Given the description of an element on the screen output the (x, y) to click on. 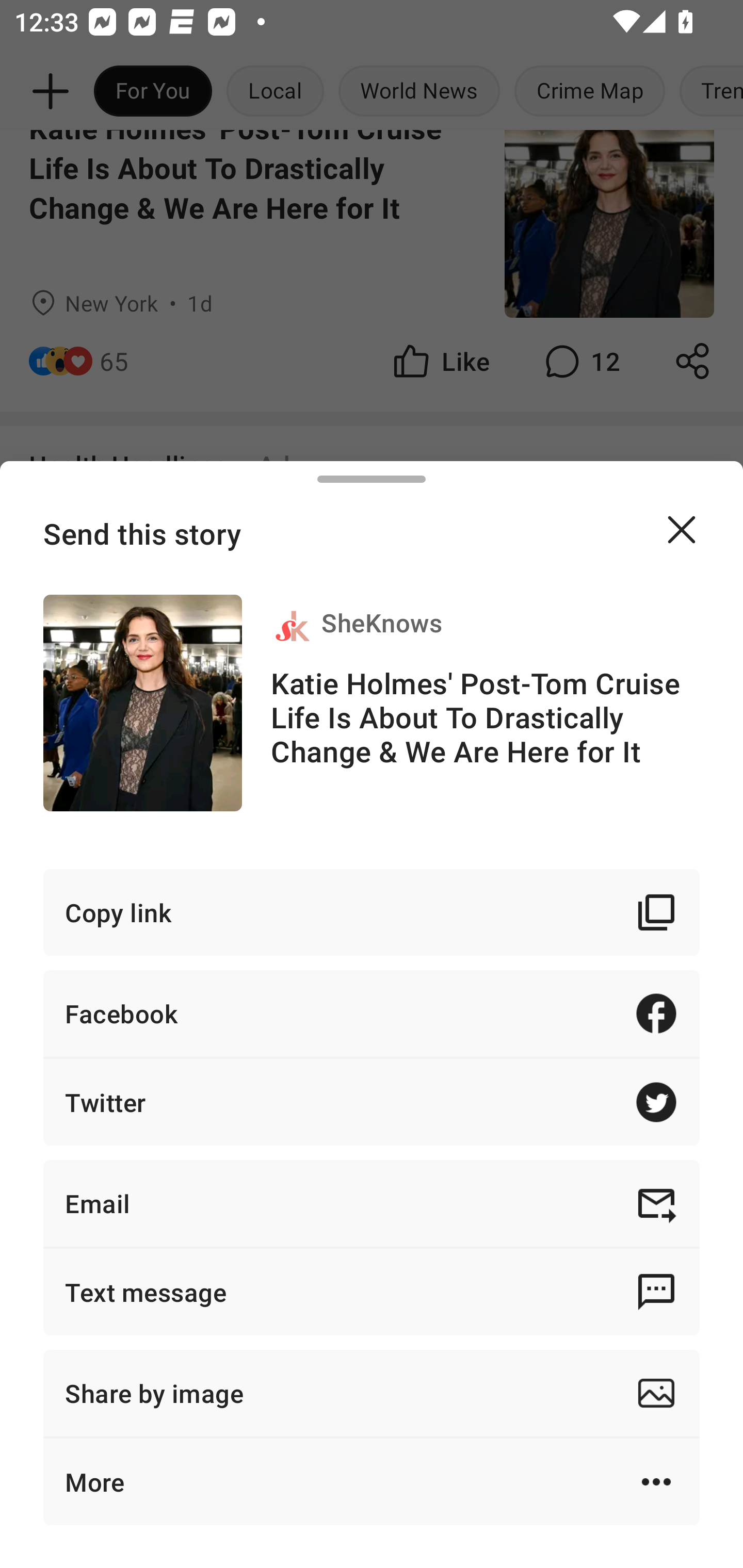
Copy link (371, 912)
Facebook (371, 1013)
Twitter (371, 1102)
Email (371, 1203)
Text message (371, 1291)
Share by image (371, 1393)
More (371, 1481)
